Given the description of an element on the screen output the (x, y) to click on. 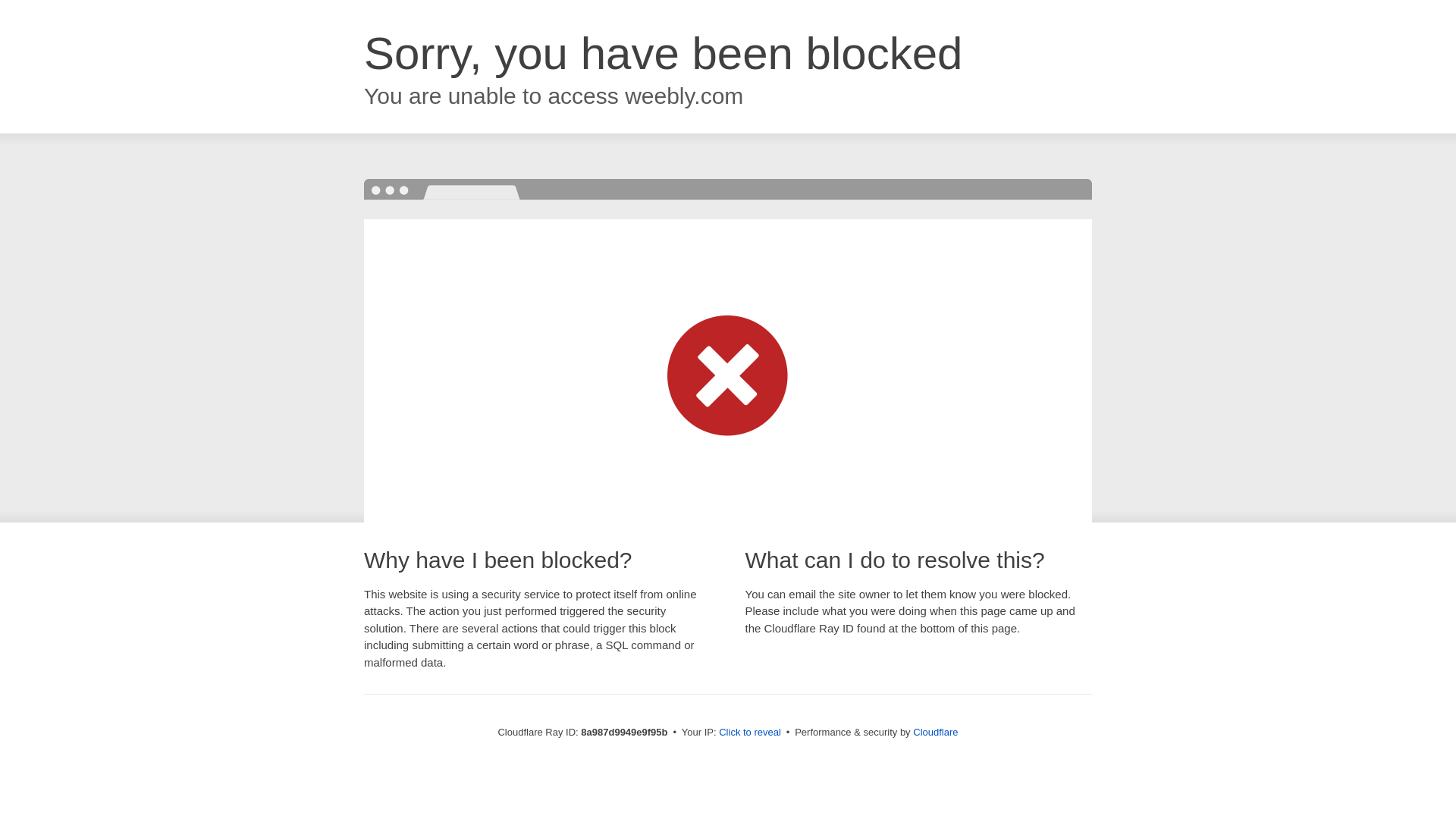
Click to reveal (749, 732)
Cloudflare (935, 731)
